Given the description of an element on the screen output the (x, y) to click on. 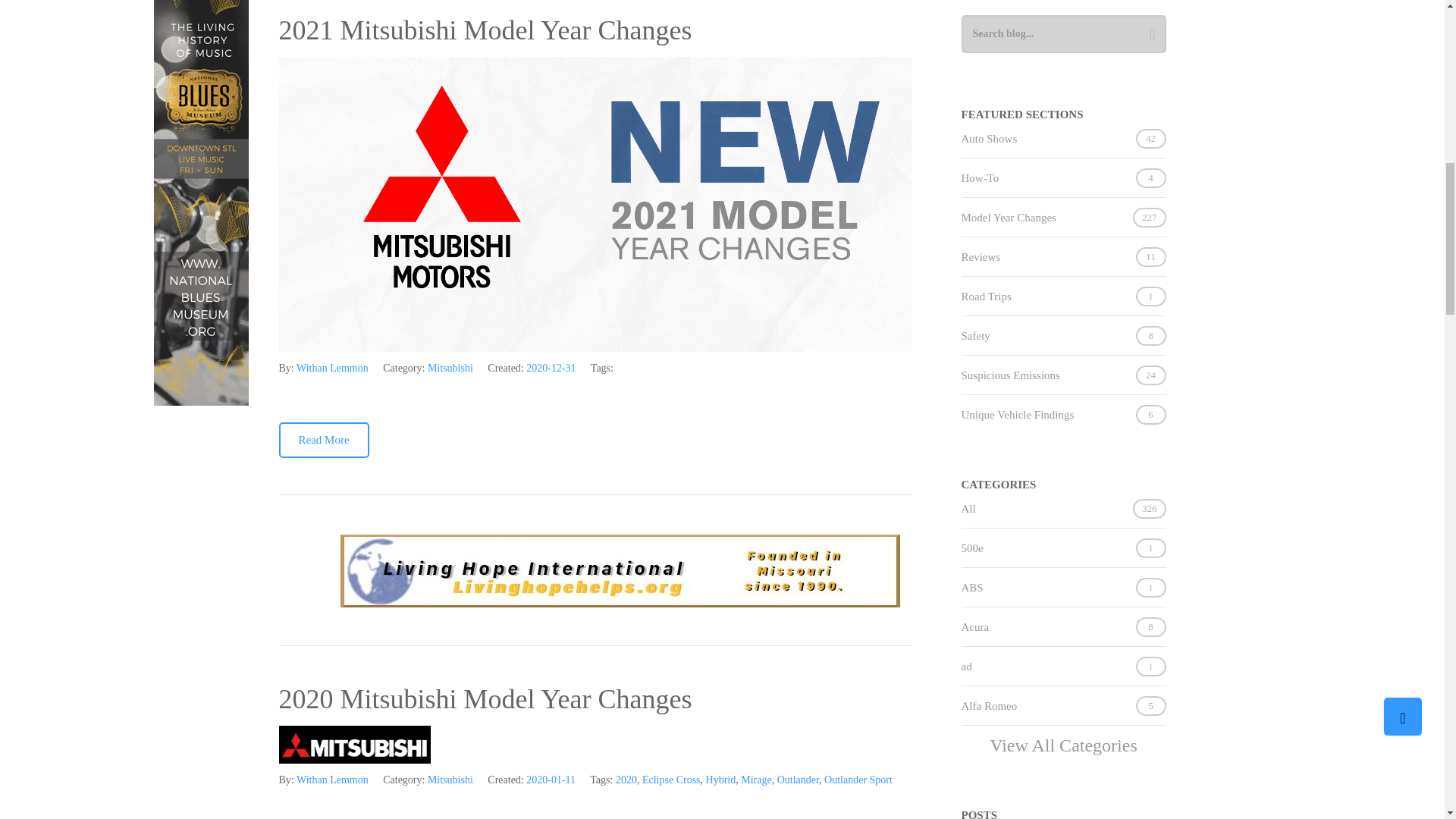
2020-01-11 (550, 779)
Outlander Sport (858, 779)
Outlander (797, 779)
Mitsubishi (450, 367)
2021 Mitsubishi Model Year Changes (486, 30)
Withan Lemmon (332, 367)
Eclipse Cross (671, 779)
Withan Lemmon (332, 779)
2020 (626, 779)
2020 Mitsubishi Model Year Changes (486, 698)
